Given the description of an element on the screen output the (x, y) to click on. 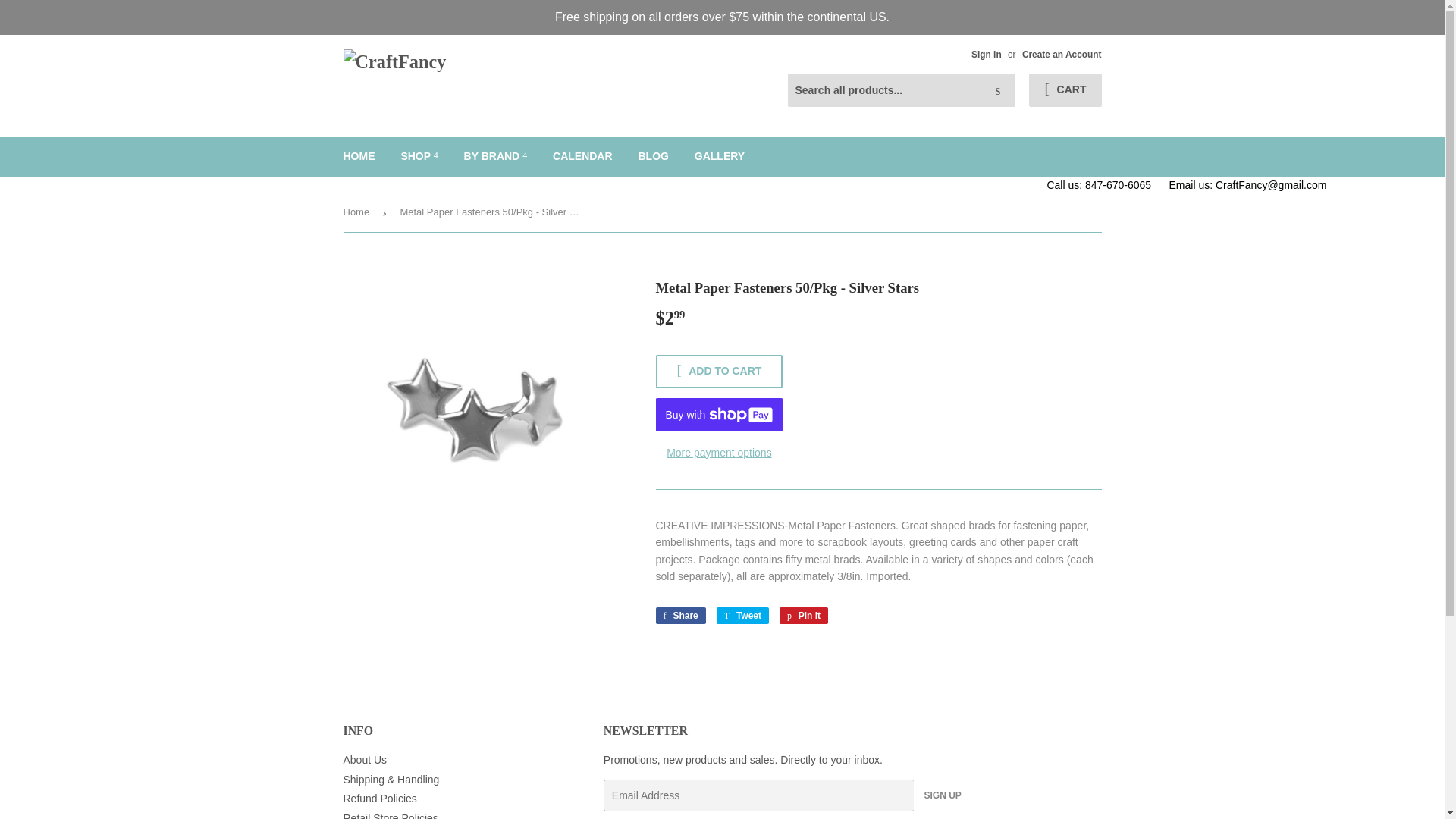
Sign in (986, 54)
CART (1064, 90)
Pin on Pinterest (803, 615)
Share on Facebook (679, 615)
Search (997, 91)
Tweet on Twitter (742, 615)
Create an Account (1062, 54)
